Given the description of an element on the screen output the (x, y) to click on. 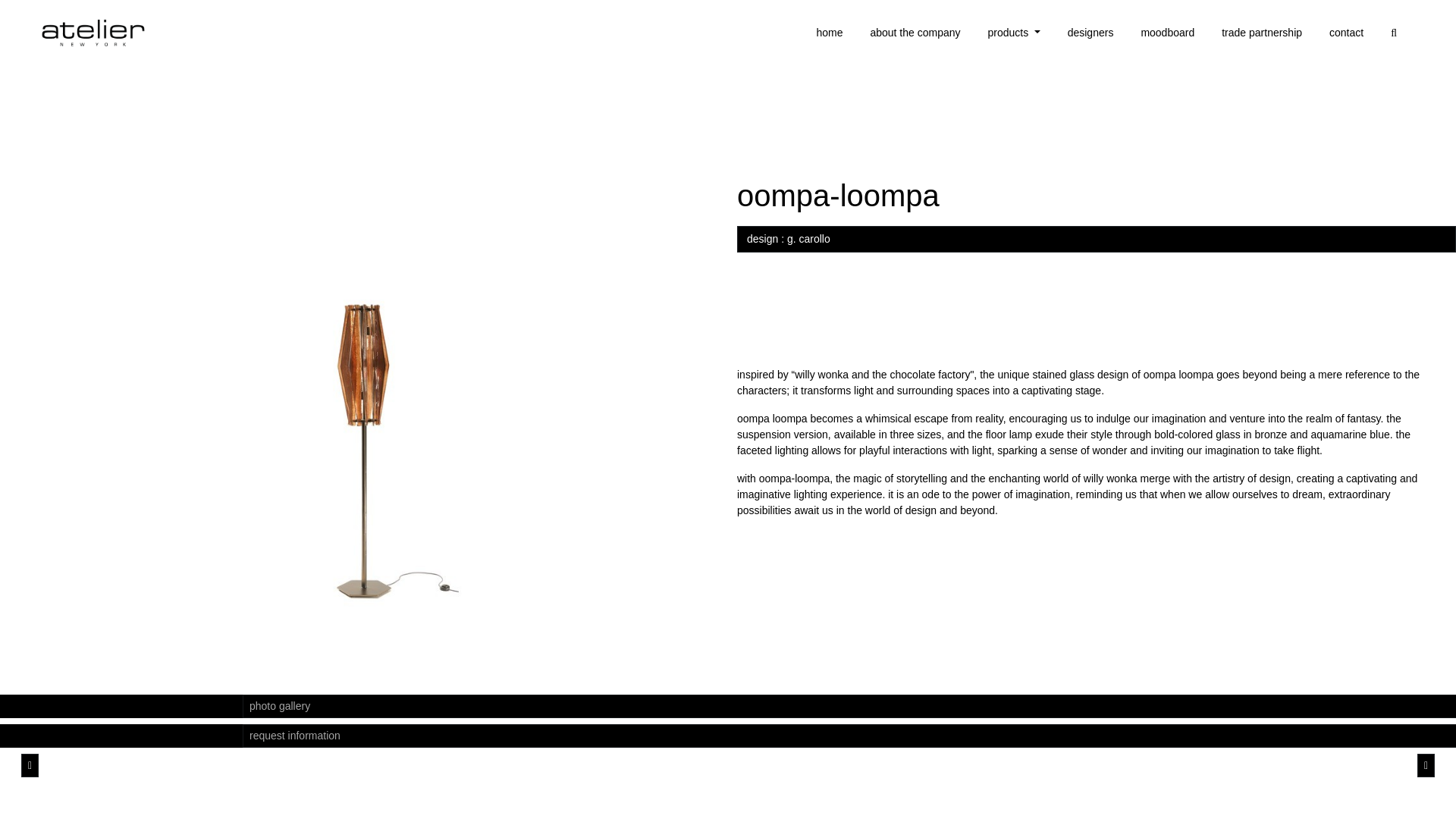
contact (1346, 32)
designers (1090, 32)
home (828, 32)
products (1013, 32)
trade partnership (1261, 32)
about the company (914, 32)
moodboard (1166, 32)
